Given the description of an element on the screen output the (x, y) to click on. 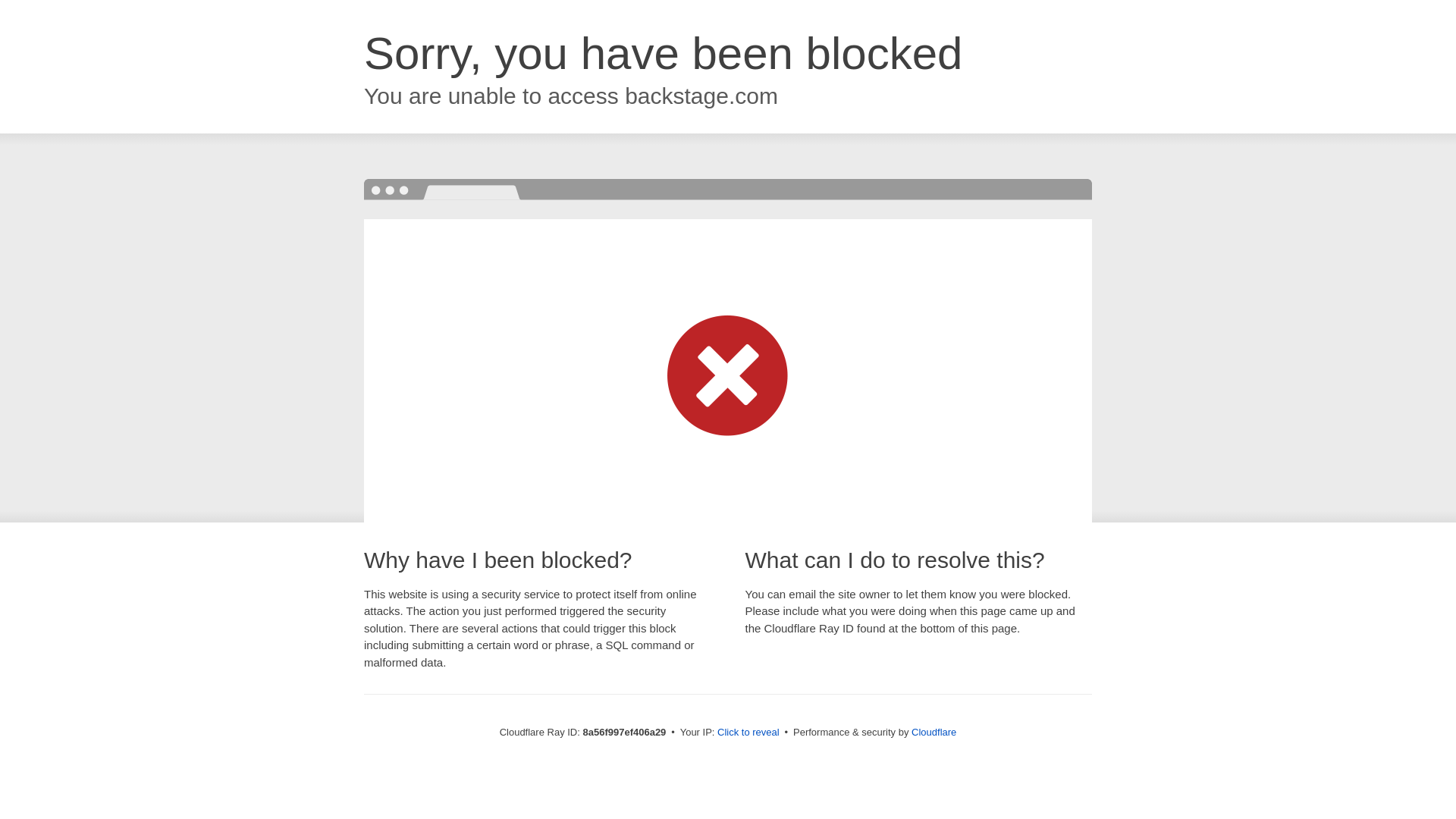
Cloudflare (933, 731)
Click to reveal (747, 732)
